Given the description of an element on the screen output the (x, y) to click on. 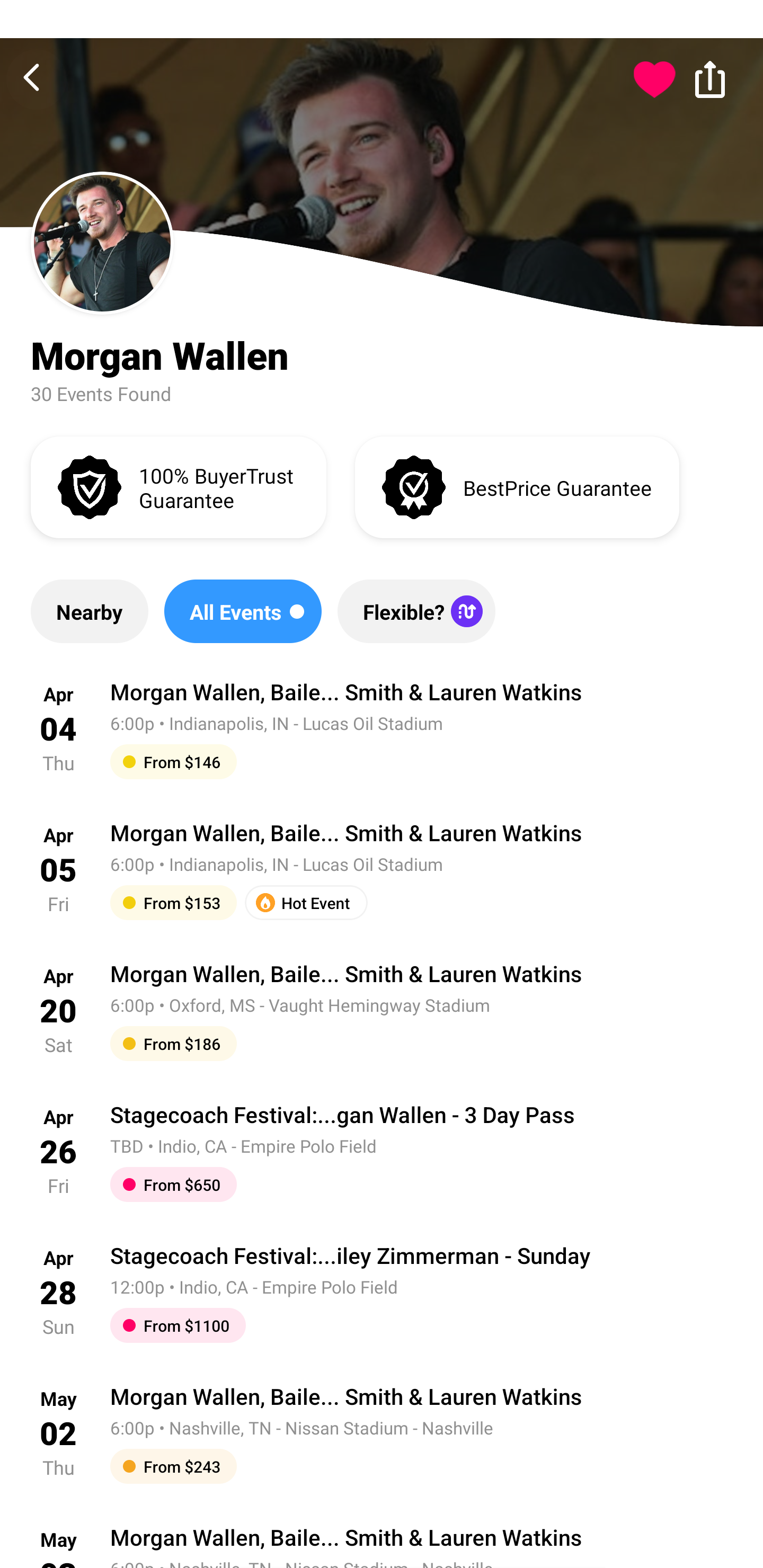
100% BuyerTrust Guarantee (178, 486)
BestPrice Guarantee (516, 486)
Nearby (89, 611)
All Events (242, 611)
Flexible? (416, 611)
